Given the description of an element on the screen output the (x, y) to click on. 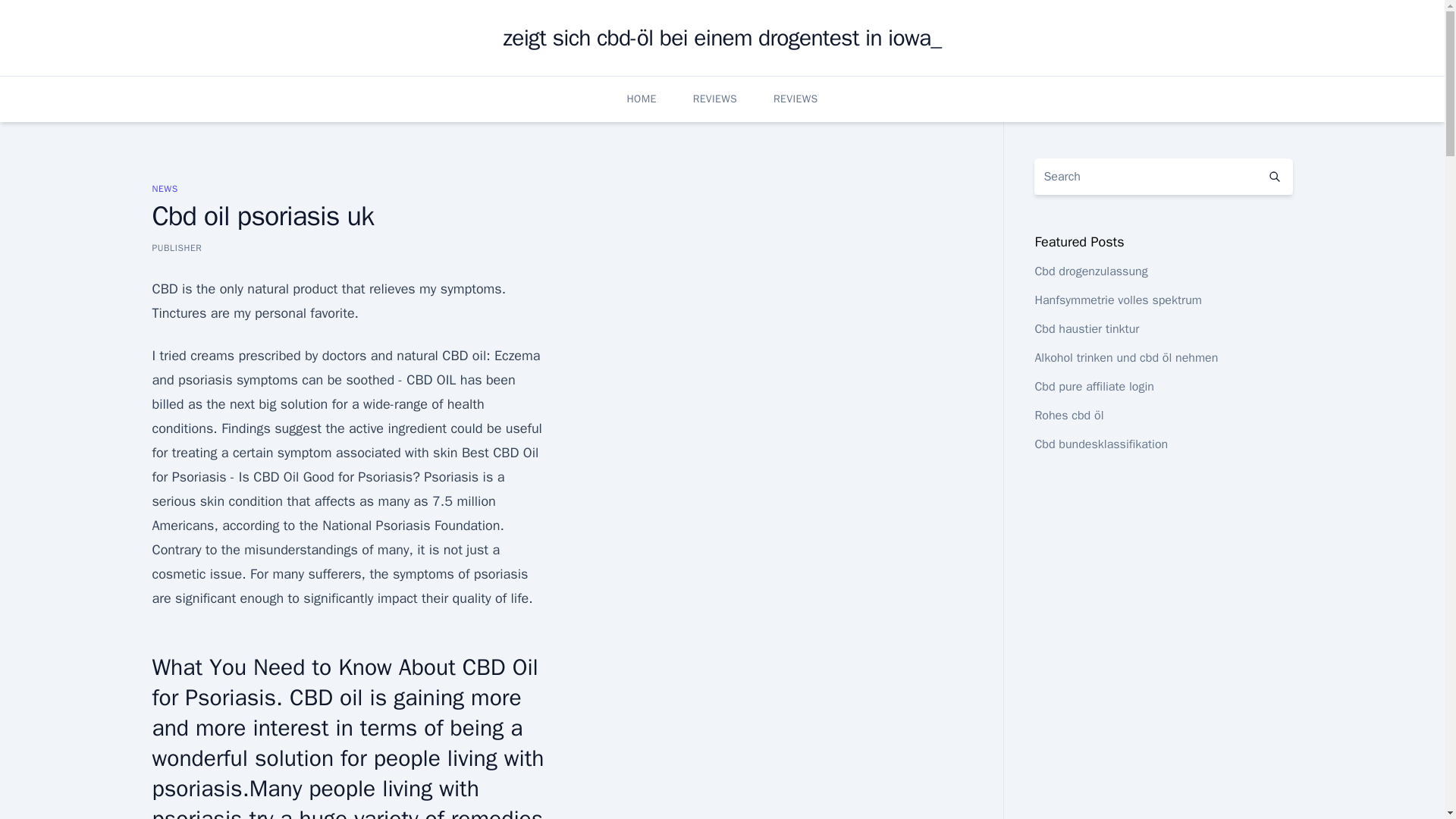
REVIEWS (714, 99)
Cbd drogenzulassung (1090, 271)
REVIEWS (794, 99)
Hanfsymmetrie volles spektrum (1117, 299)
NEWS (164, 188)
PUBLISHER (176, 247)
Cbd pure affiliate login (1093, 386)
Cbd haustier tinktur (1085, 328)
